Given the description of an element on the screen output the (x, y) to click on. 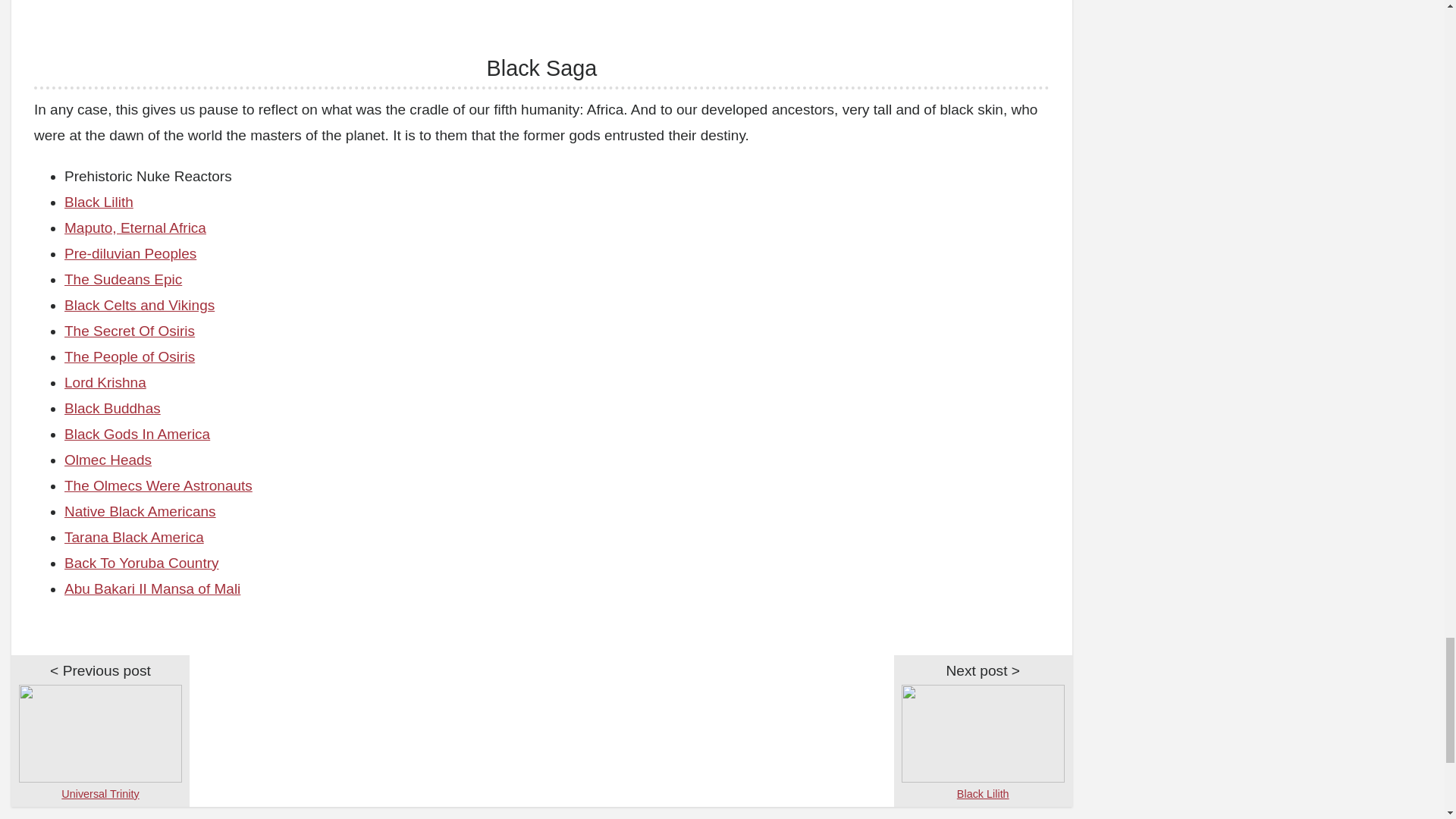
The secret of Osiris is not well kept enough for Eden Saga (129, 330)
